Given the description of an element on the screen output the (x, y) to click on. 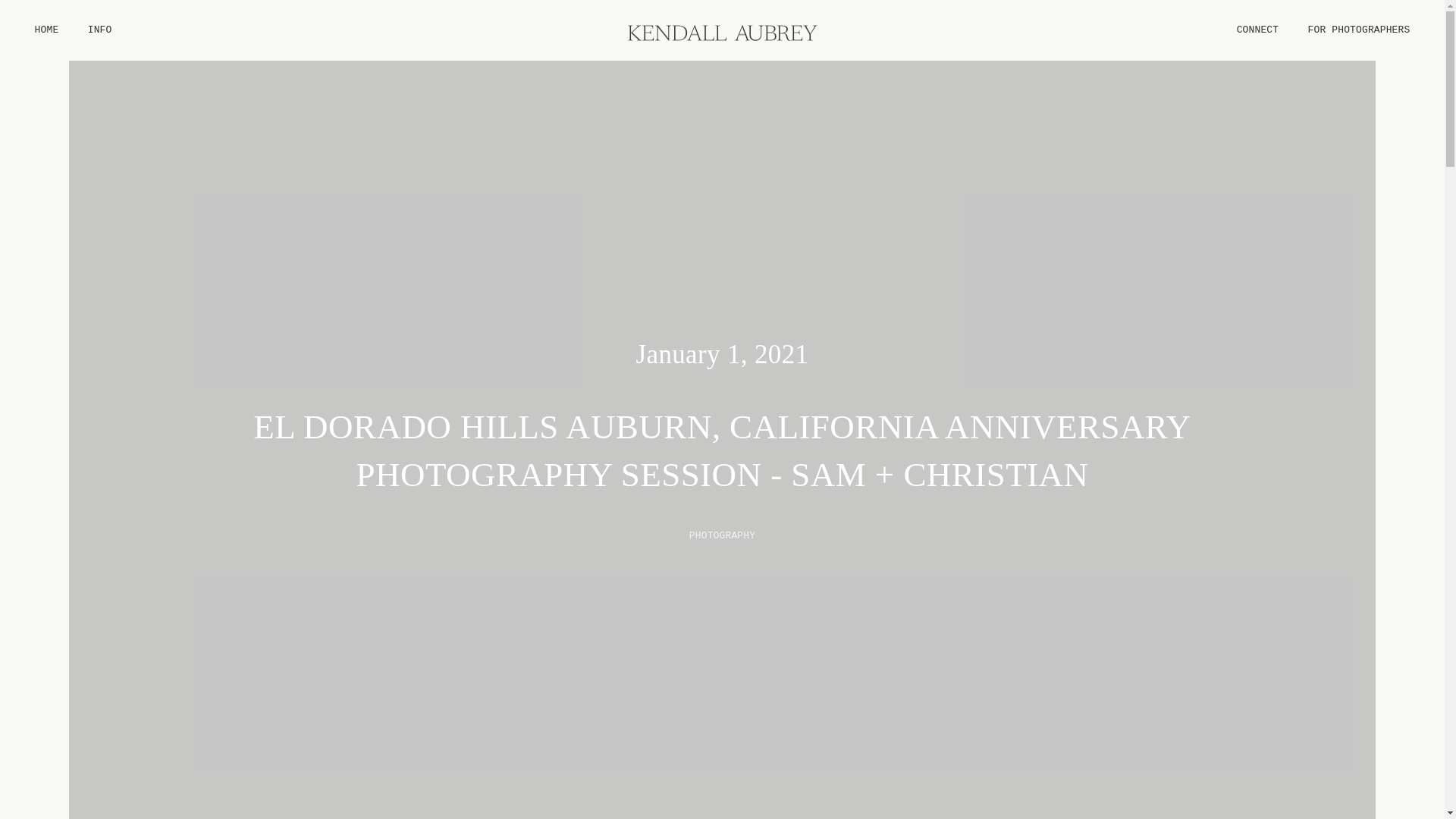
PHOTOGRAPHY (721, 535)
HOME (46, 29)
FOR PHOTOGRAPHERS (1357, 29)
INFO (100, 29)
CONNECT (1256, 29)
